Given the description of an element on the screen output the (x, y) to click on. 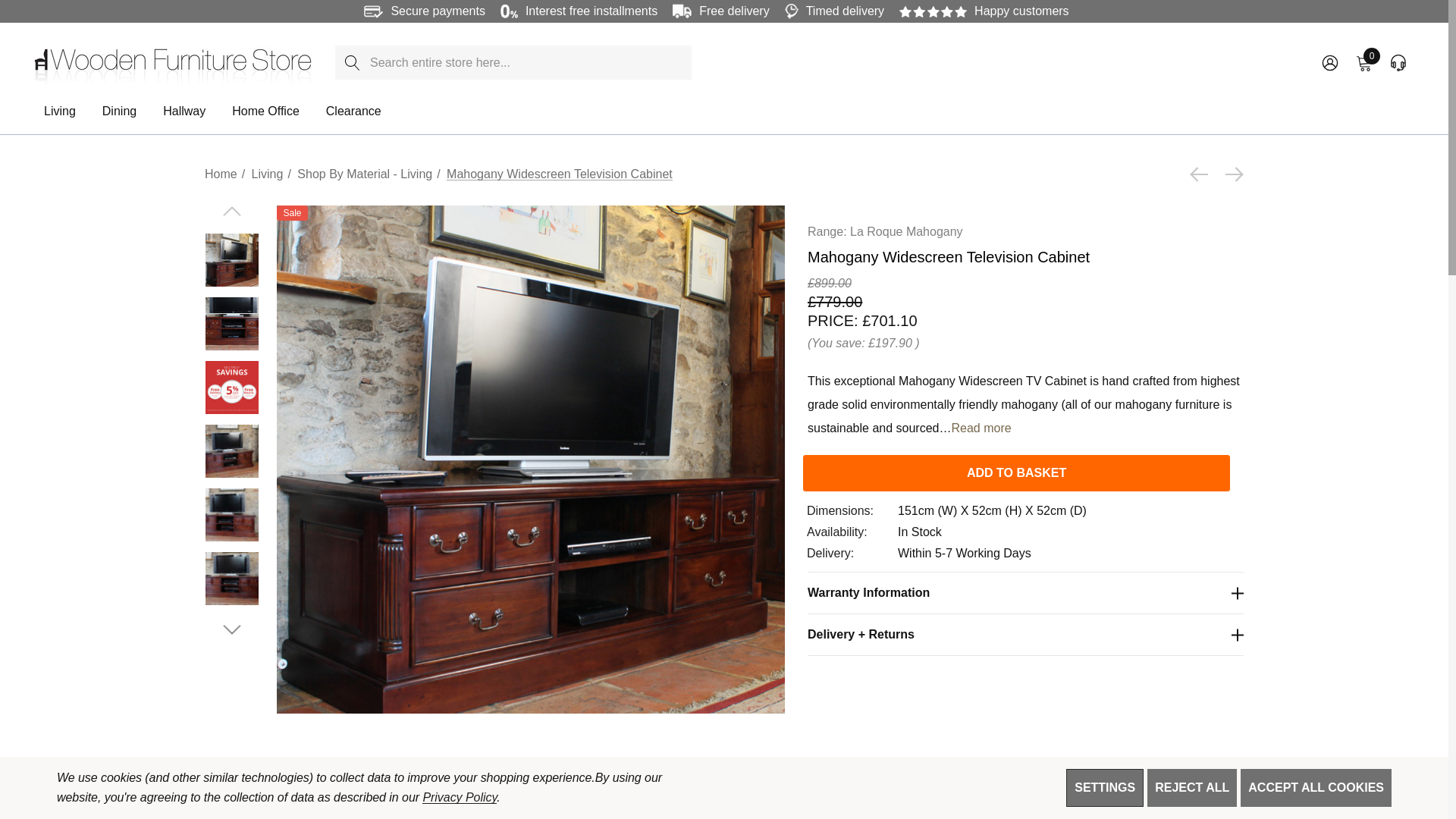
Living (59, 111)
ACCOUNT ACCOUNT (1328, 62)
YOUR BASKET YOUR BASKET (1364, 62)
Mahogany Widescreen Television Cabinet - IMR09A - 1 (232, 259)
Wooden Furniture Store (173, 62)
ACCOUNT ACCOUNT (1330, 62)
LIVE HELP LIVE HELP (1398, 62)
LIVE HELP LIVE HELP (1362, 62)
Add to Basket (1396, 62)
Mahogany Widescreen Television Cabinet - IMR09A - 1 (1016, 473)
